Given the description of an element on the screen output the (x, y) to click on. 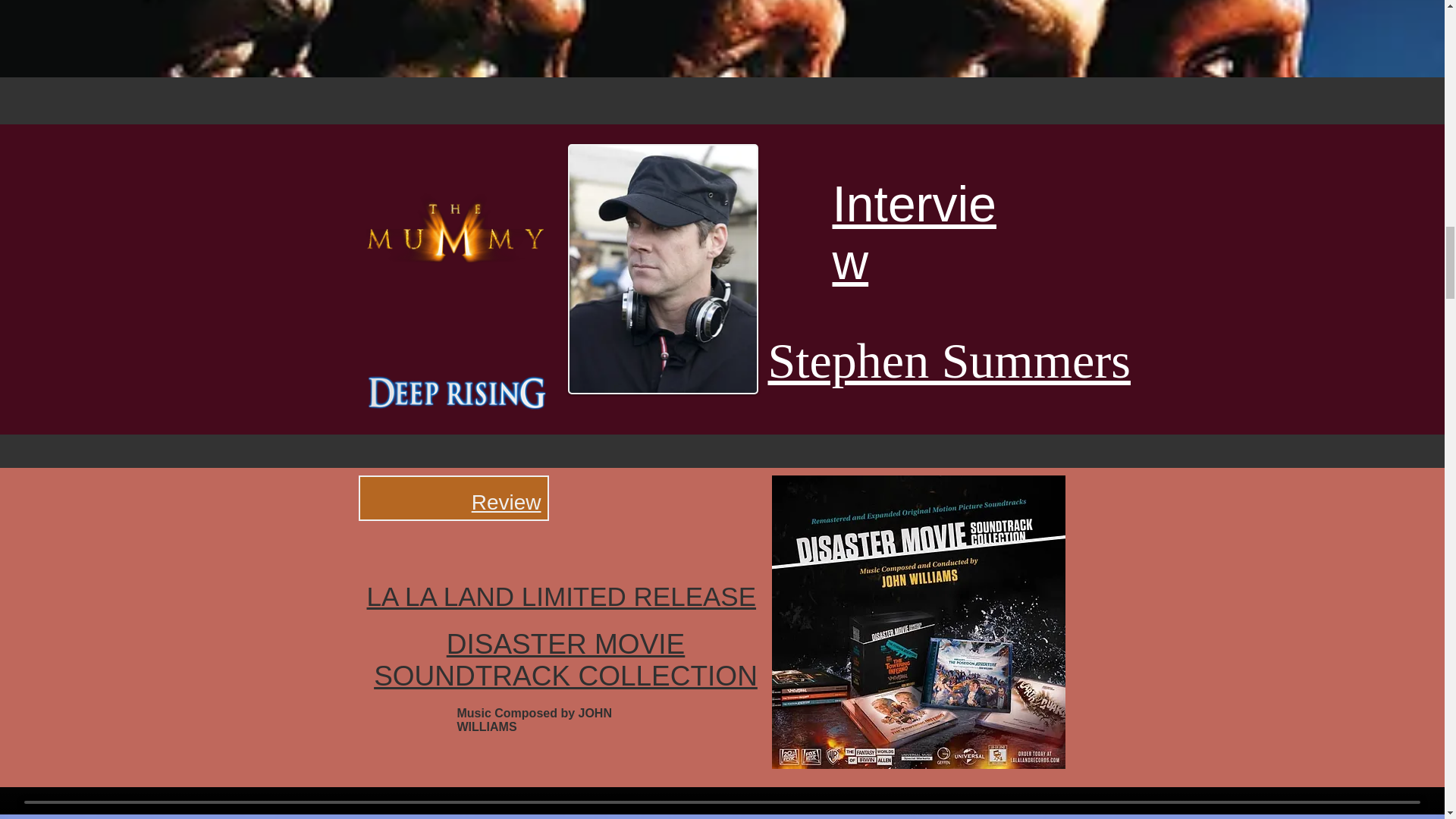
LA LA LAND LIMITED RELEASE (561, 595)
Review (506, 502)
DISASTER MOVIE SOUNDTRACK COLLECTION (565, 659)
Stephen Summers (948, 360)
Interview (913, 232)
